Given the description of an element on the screen output the (x, y) to click on. 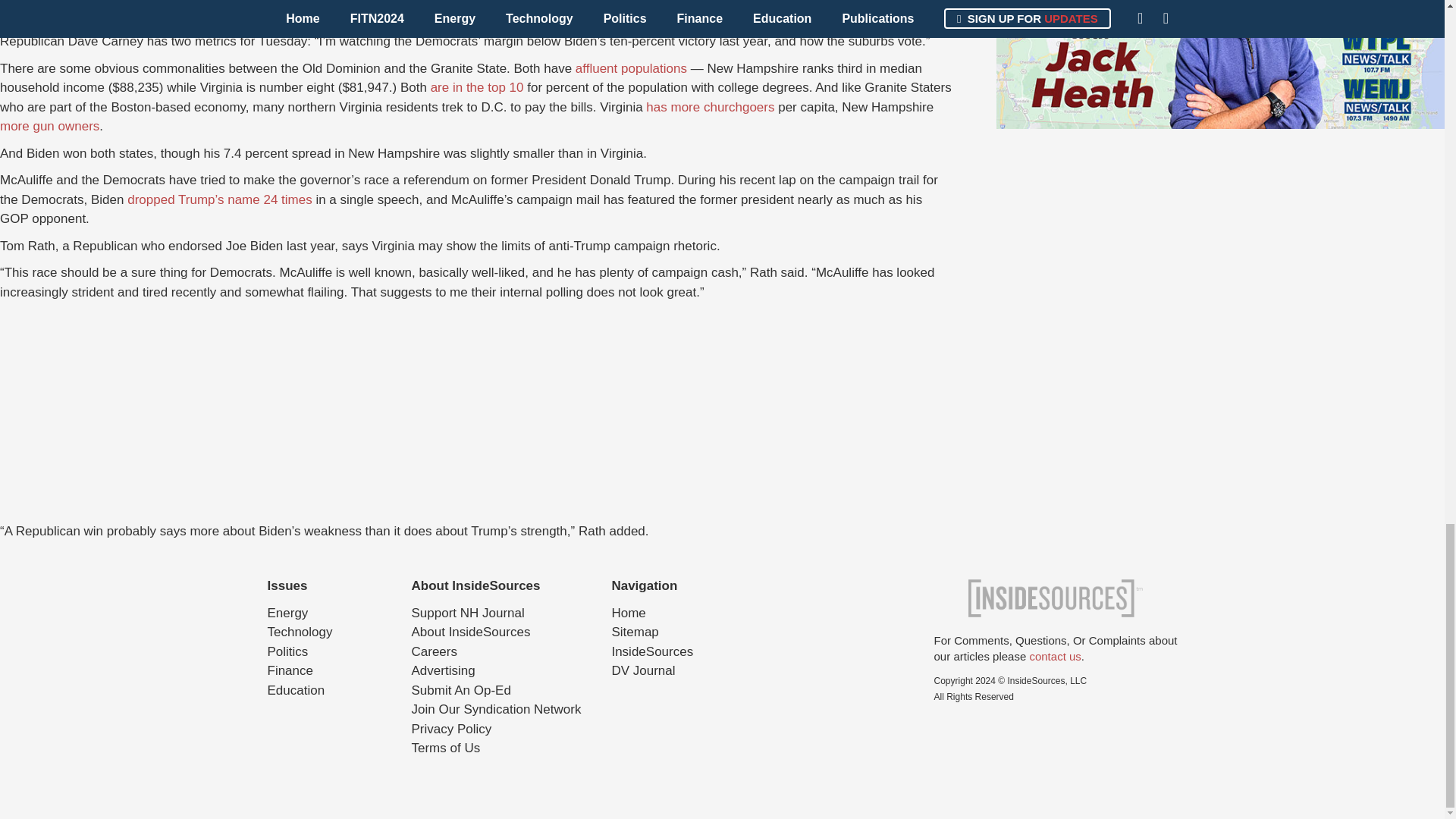
has more churchgoers (710, 106)
more gun owners (49, 125)
affluent populations (631, 68)
are in the top 10 (477, 87)
Energy (286, 612)
